Given the description of an element on the screen output the (x, y) to click on. 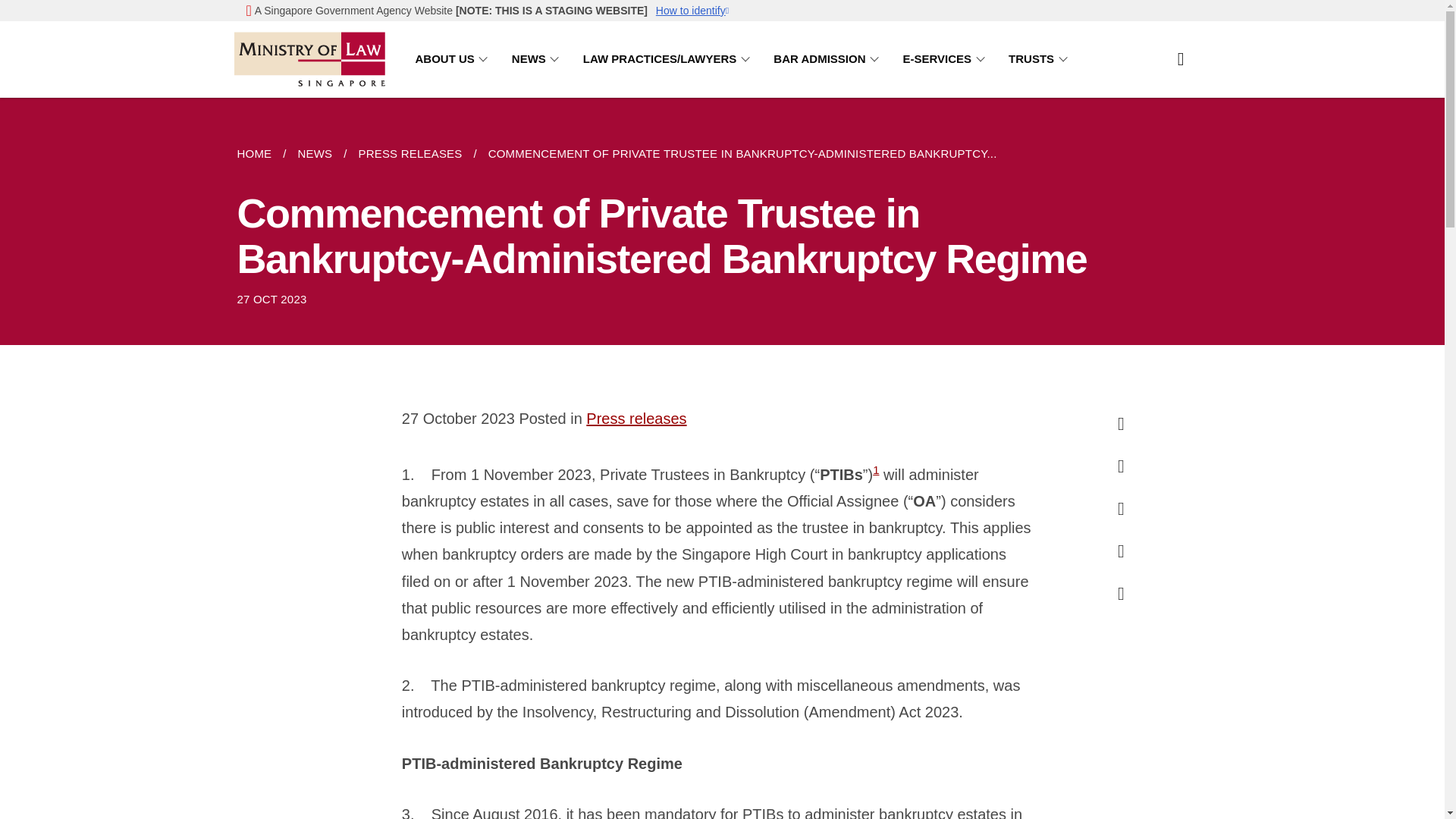
ABOUT US (453, 59)
E-SERVICES (946, 59)
BAR ADMISSION (828, 59)
